Given the description of an element on the screen output the (x, y) to click on. 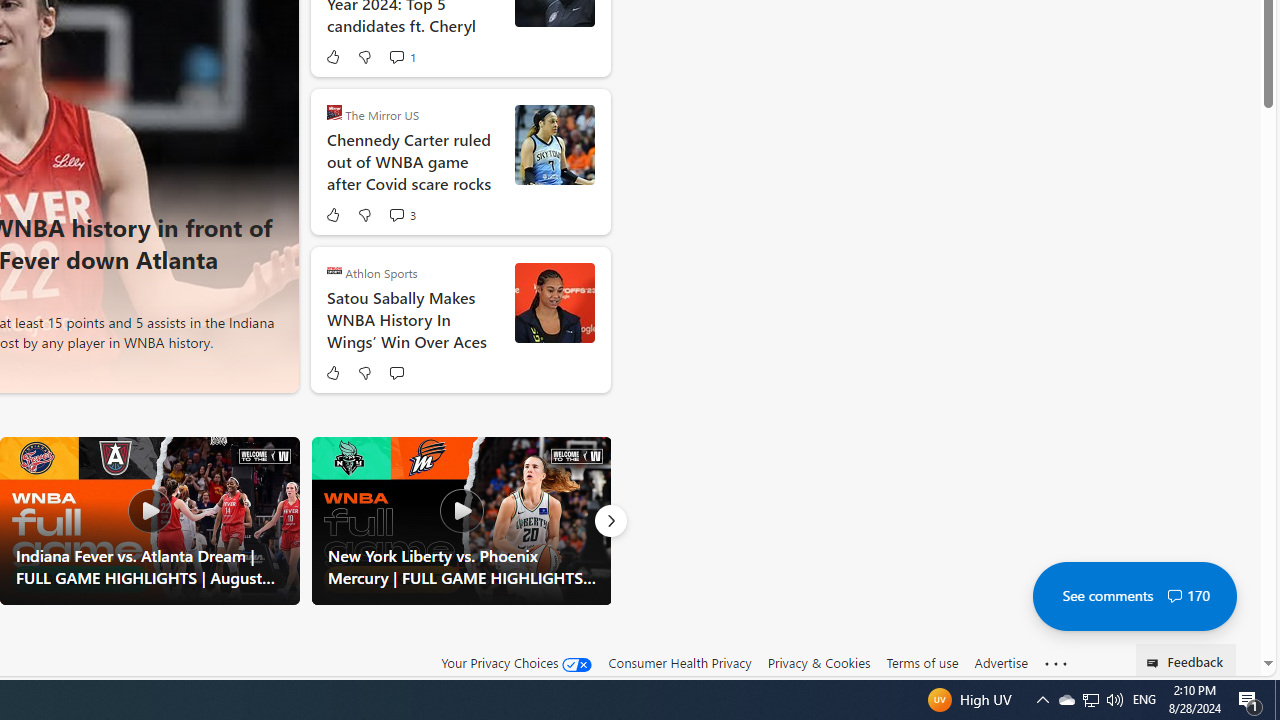
Consumer Health Privacy (680, 663)
Class: oneFooter_seeMore-DS-EntryPoint1-1 (1055, 663)
Start the conversation (396, 372)
Terms of use (921, 663)
Like (332, 372)
View comments 1 Comment (401, 56)
Your Privacy Choices (516, 662)
Dislike (364, 372)
next (271, 161)
Feedback (1186, 659)
See more (1055, 664)
Consumer Health Privacy (680, 662)
Your Privacy Choices (516, 663)
